Given the description of an element on the screen output the (x, y) to click on. 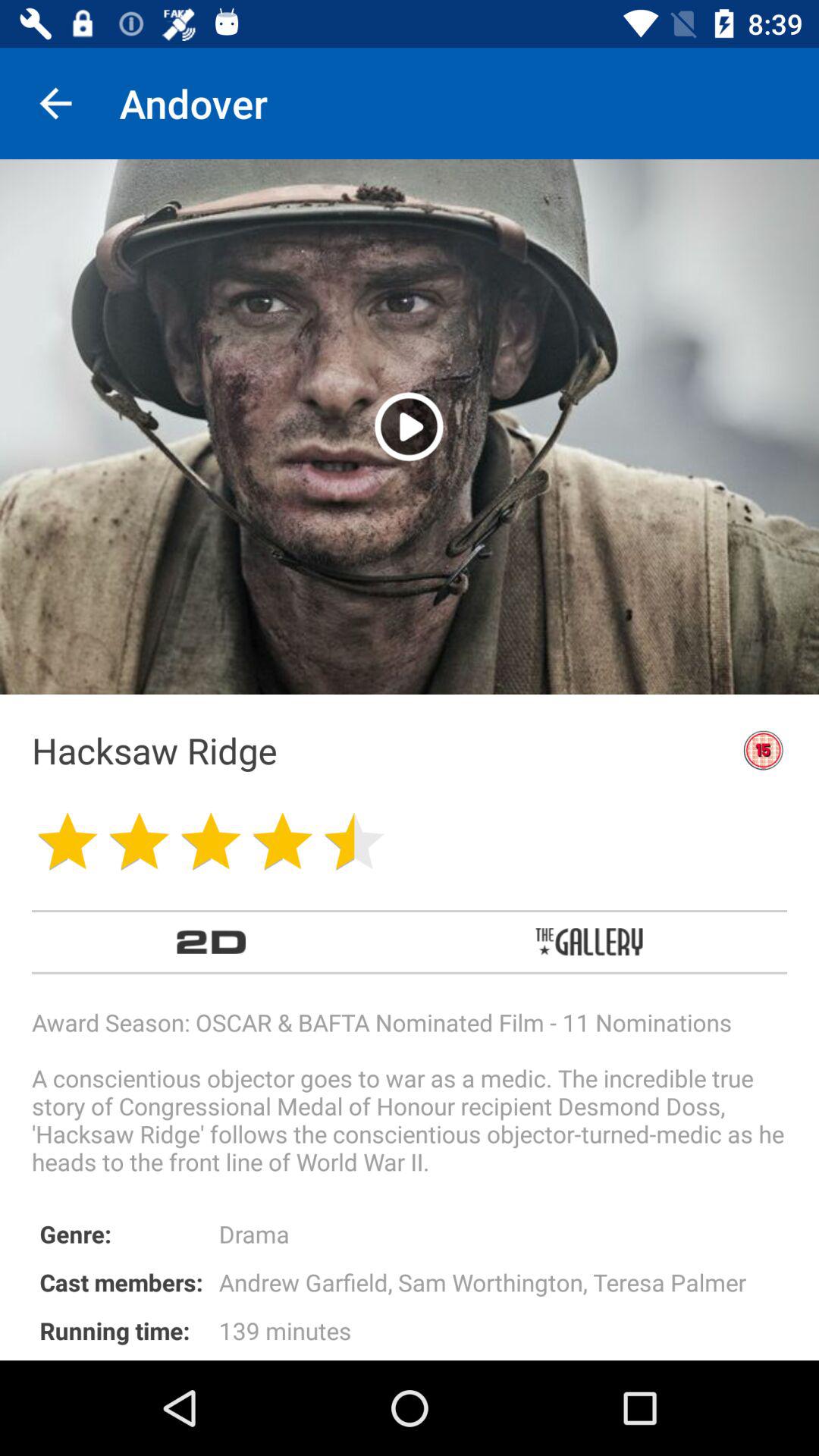
choose the app next to andover icon (55, 103)
